Given the description of an element on the screen output the (x, y) to click on. 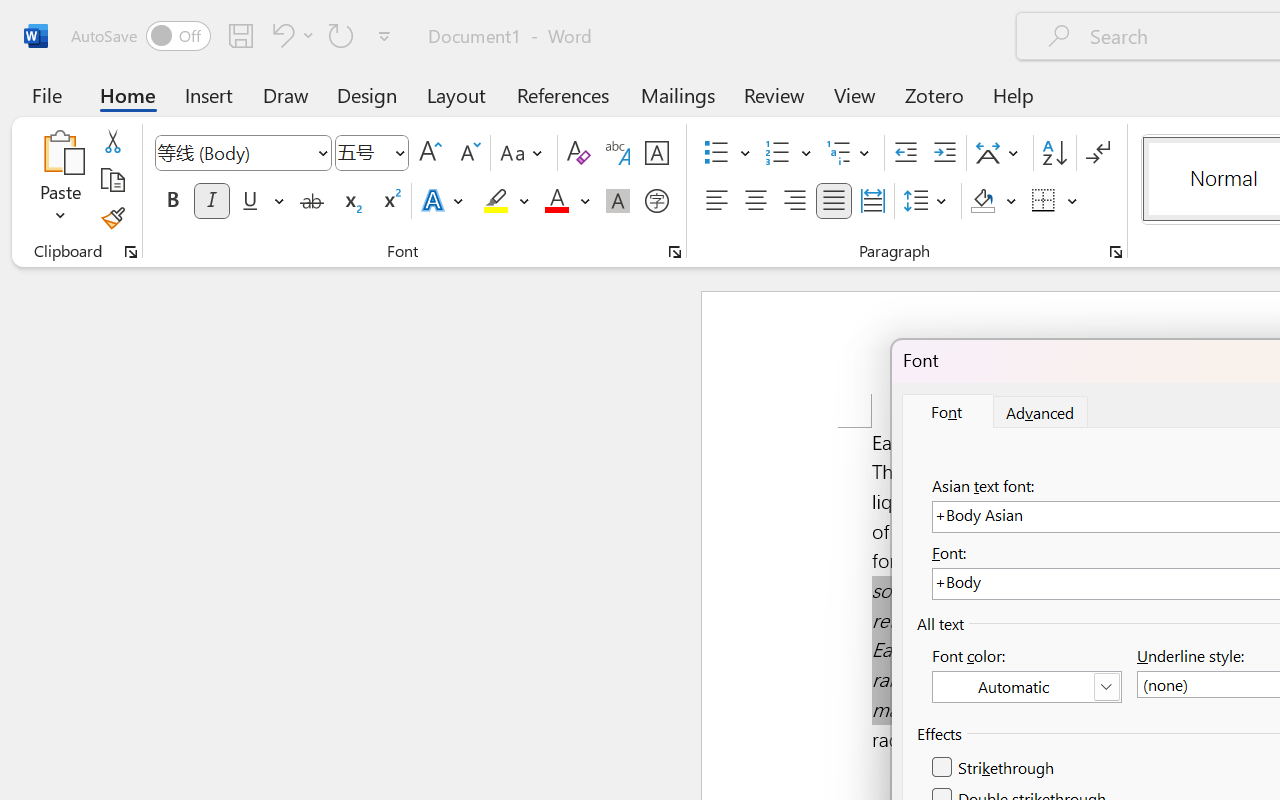
Asian Layout (1000, 153)
Font Color Red (556, 201)
Line and Paragraph Spacing (927, 201)
Bold (172, 201)
Sort... (1054, 153)
Center (756, 201)
Superscript (390, 201)
Shading (993, 201)
Increase Indent (944, 153)
